Given the description of an element on the screen output the (x, y) to click on. 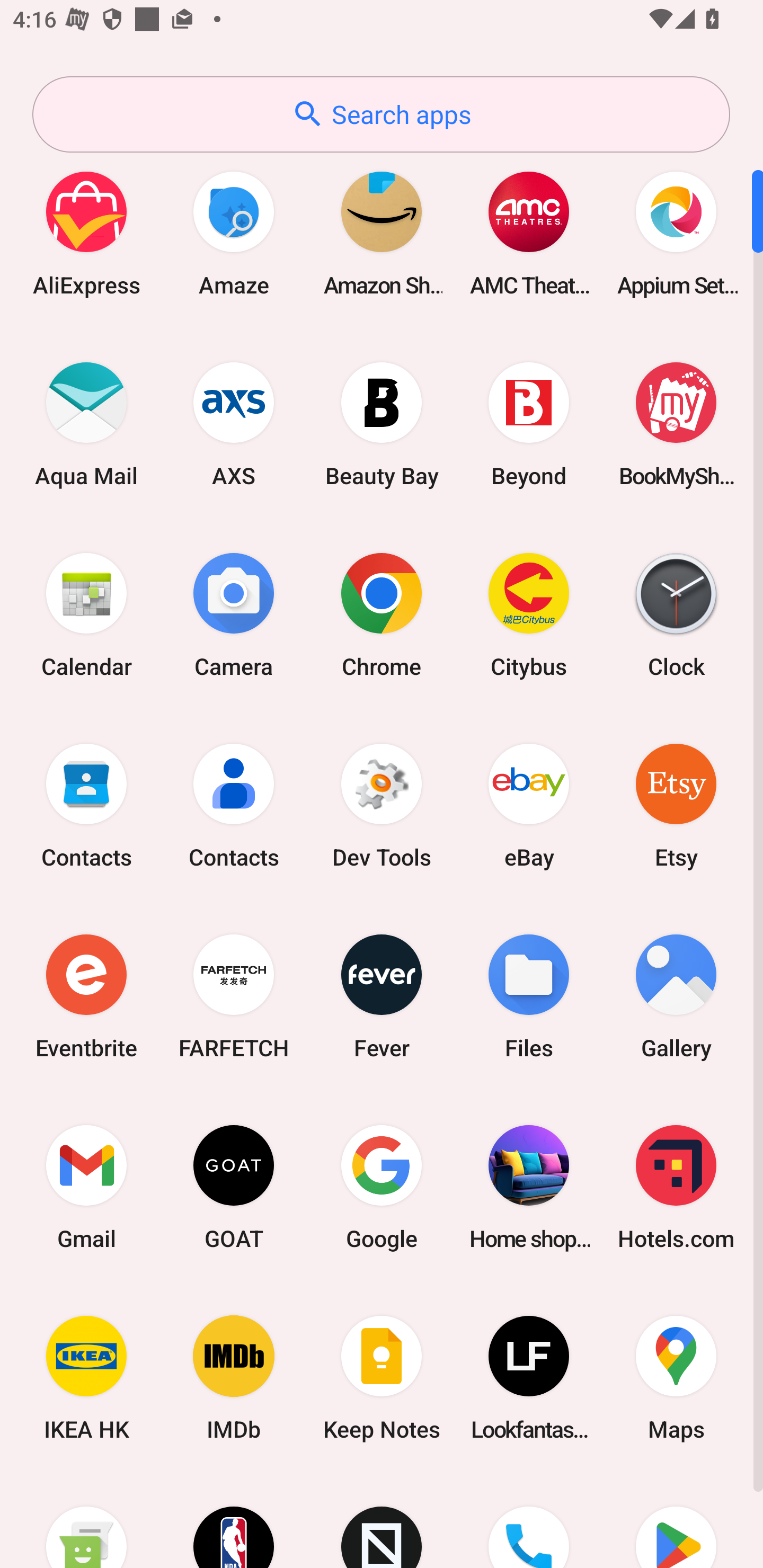
  Search apps (381, 114)
AliExpress (86, 233)
Amaze (233, 233)
Amazon Shopping (381, 233)
AMC Theatres (528, 233)
Appium Settings (676, 233)
Aqua Mail (86, 424)
AXS (233, 424)
Beauty Bay (381, 424)
Beyond (528, 424)
BookMyShow (676, 424)
Calendar (86, 614)
Camera (233, 614)
Chrome (381, 614)
Citybus (528, 614)
Clock (676, 614)
Contacts (86, 805)
Contacts (233, 805)
Dev Tools (381, 805)
eBay (528, 805)
Etsy (676, 805)
Eventbrite (86, 996)
FARFETCH (233, 996)
Fever (381, 996)
Files (528, 996)
Gallery (676, 996)
Gmail (86, 1186)
GOAT (233, 1186)
Google (381, 1186)
Home shopping (528, 1186)
Hotels.com (676, 1186)
IKEA HK (86, 1377)
IMDb (233, 1377)
Keep Notes (381, 1377)
Lookfantastic (528, 1377)
Maps (676, 1377)
